Given the description of an element on the screen output the (x, y) to click on. 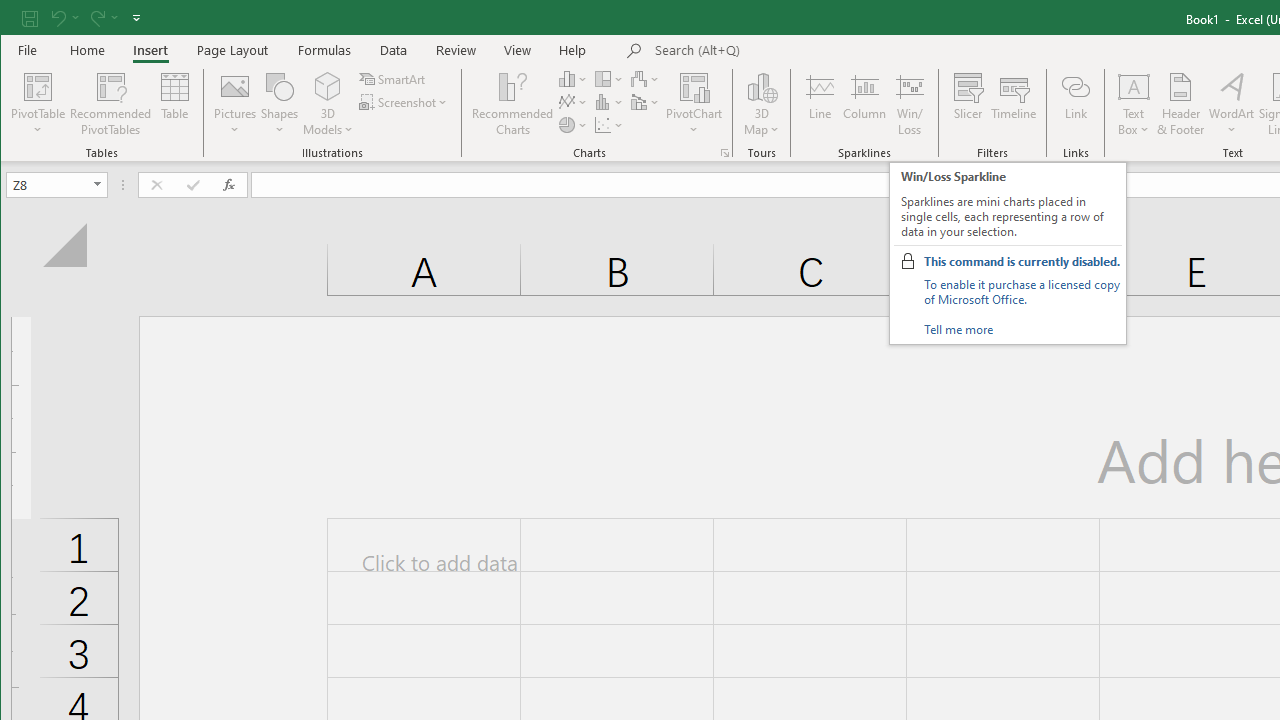
Slicer... (968, 104)
Shapes (279, 104)
Win/Loss (909, 104)
PivotTable (37, 104)
Screenshot (404, 101)
Recommended PivotTables (110, 104)
3D Map (762, 86)
3D Models (327, 86)
Timeline (1014, 104)
Recommended Charts (724, 152)
